Given the description of an element on the screen output the (x, y) to click on. 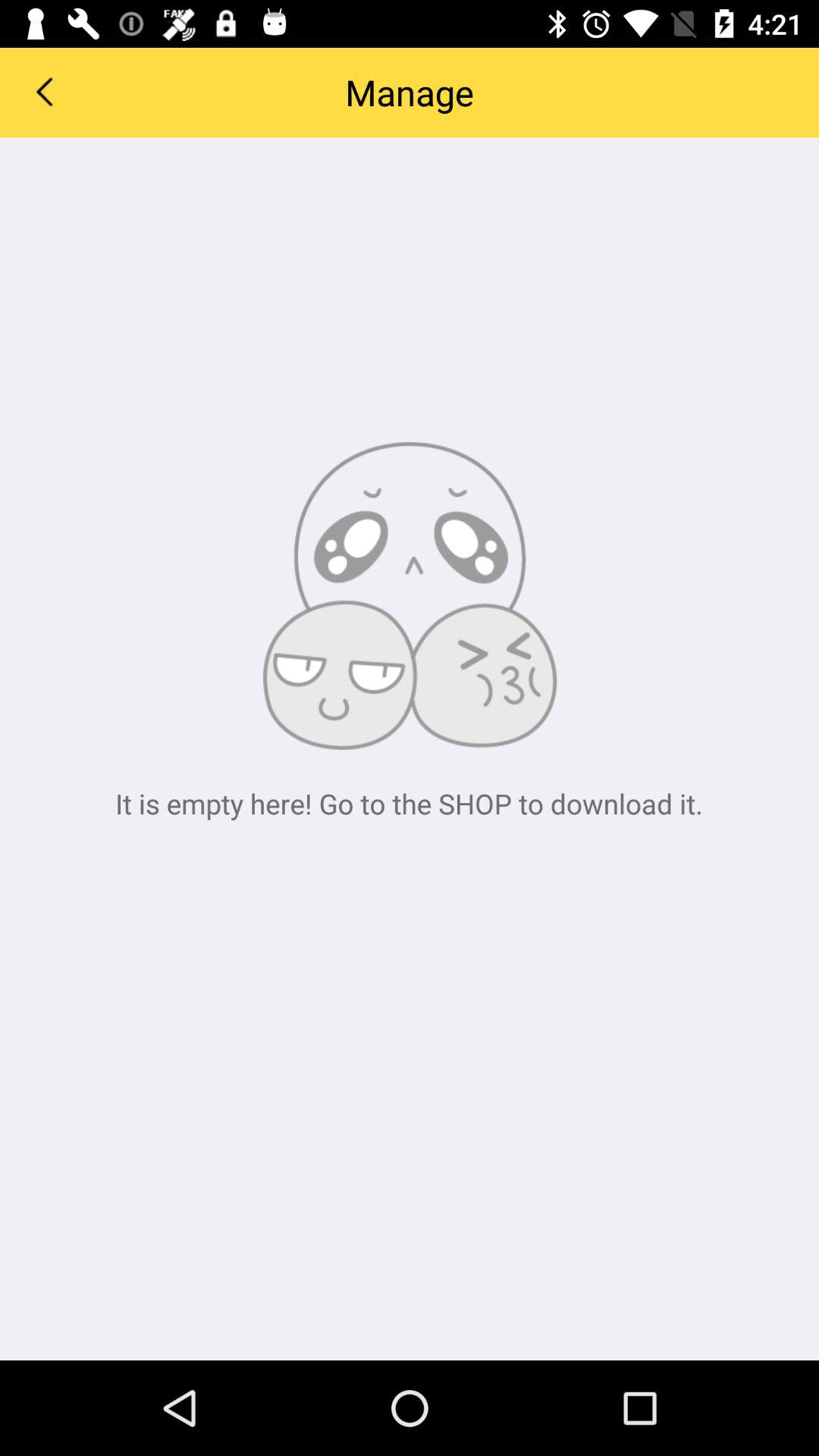
turn on the icon at the top left corner (43, 91)
